Given the description of an element on the screen output the (x, y) to click on. 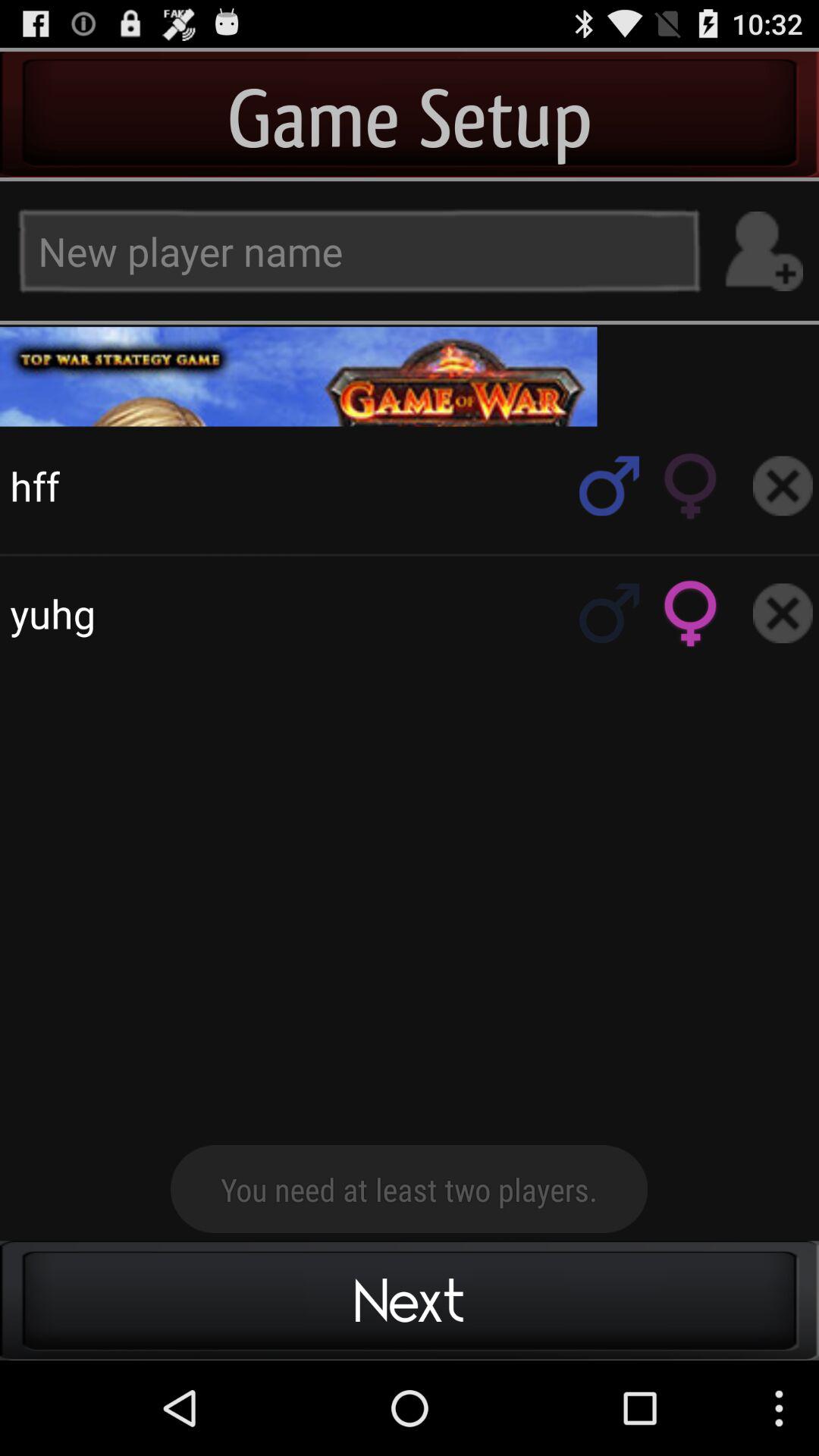
make character a female (690, 485)
